Given the description of an element on the screen output the (x, y) to click on. 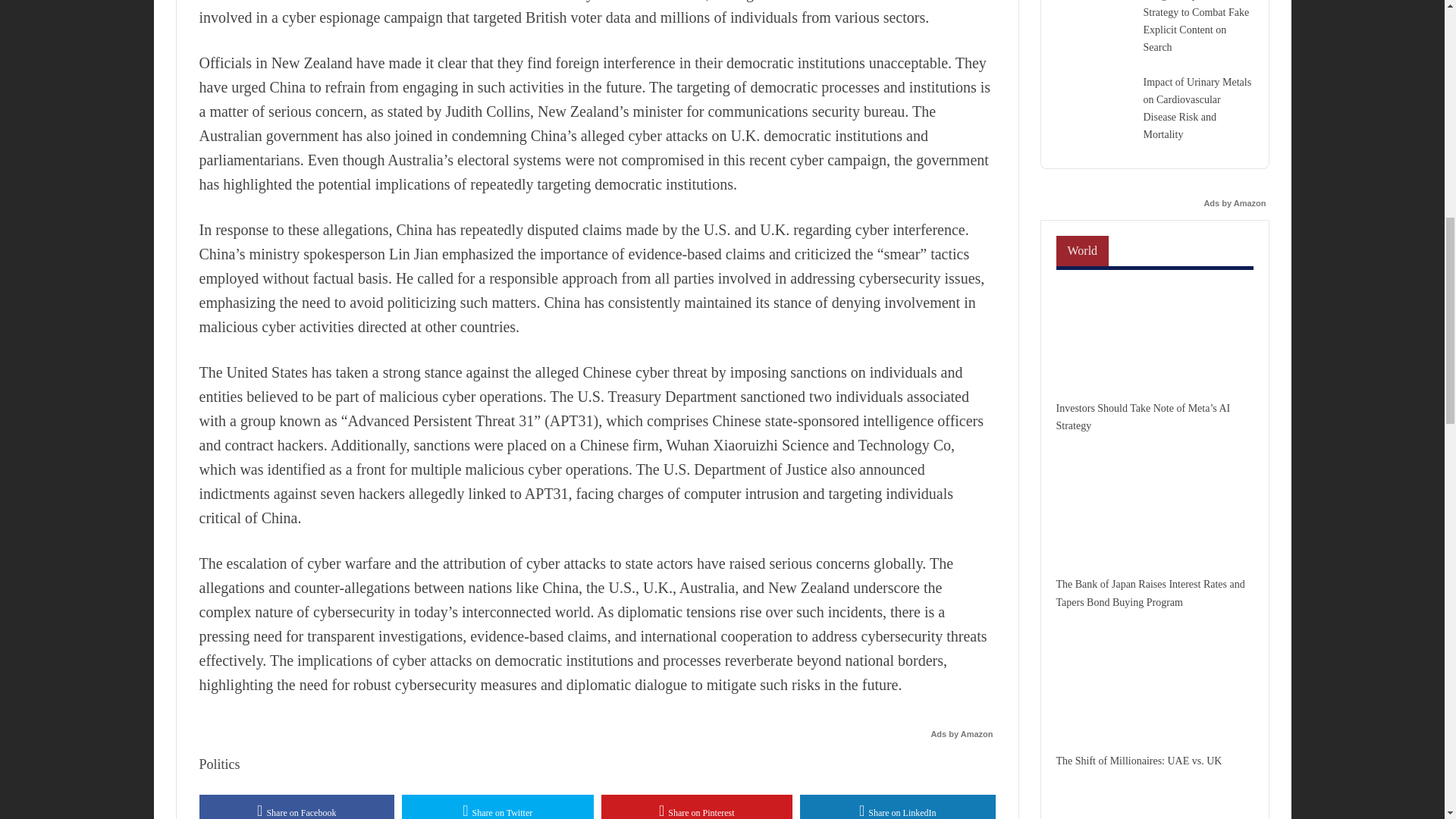
Politics (219, 764)
